Given the description of an element on the screen output the (x, y) to click on. 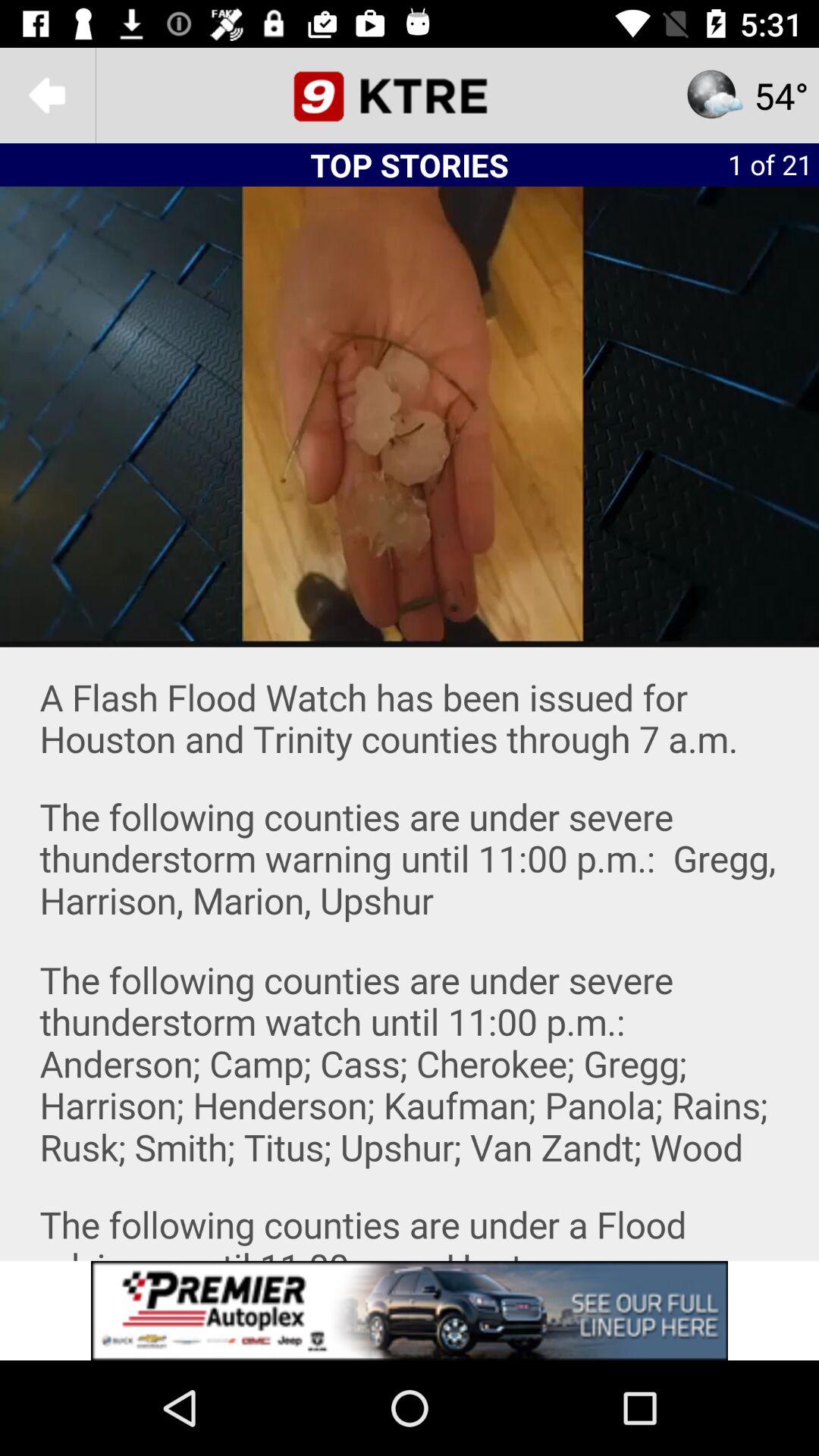
advertisement (409, 1310)
